Given the description of an element on the screen output the (x, y) to click on. 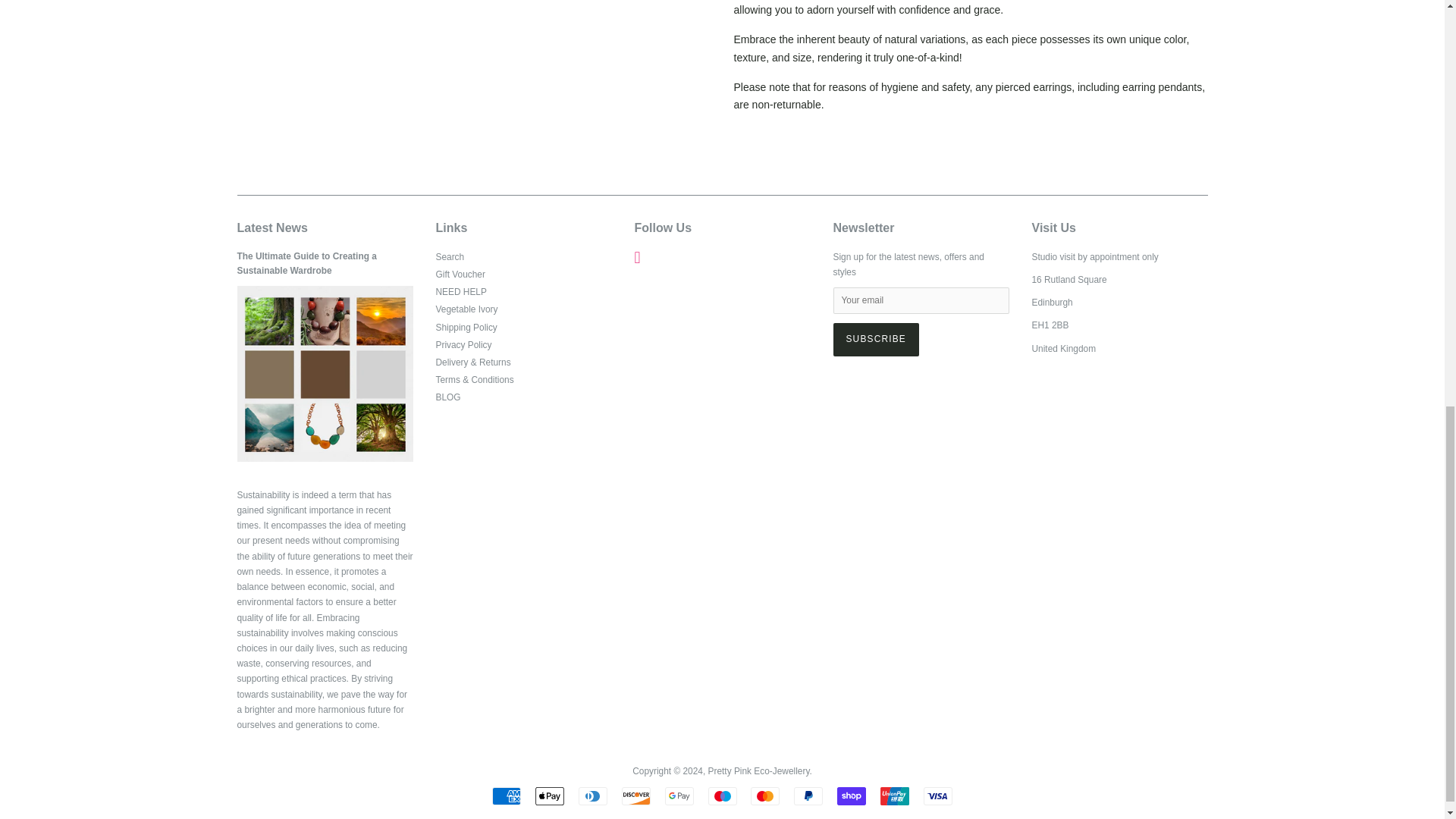
Google Pay (679, 796)
Shop Pay (851, 796)
Pretty Pink Eco-Jewellery on Instagram (636, 259)
Apple Pay (549, 796)
Union Pay (894, 796)
Maestro (721, 796)
Discover (635, 796)
Visa (937, 796)
American Express (506, 796)
PayPal (807, 796)
Subscribe (875, 339)
Diners Club (592, 796)
Mastercard (764, 796)
